Given the description of an element on the screen output the (x, y) to click on. 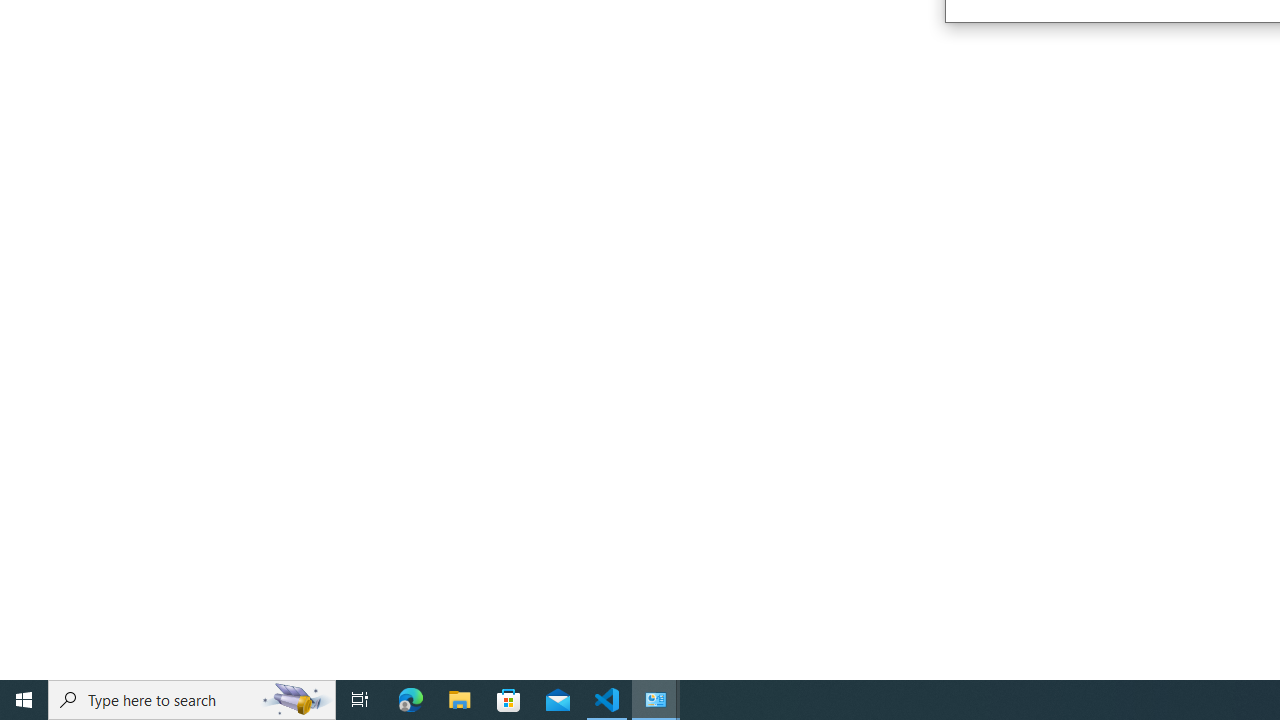
Start (24, 699)
Visual Studio Code - 1 running window (607, 699)
Task View (359, 699)
Microsoft Store (509, 699)
Search highlights icon opens search home window (295, 699)
Type here to search (191, 699)
Control Panel - 2 running windows (656, 699)
File Explorer (460, 699)
Microsoft Edge (411, 699)
